Given the description of an element on the screen output the (x, y) to click on. 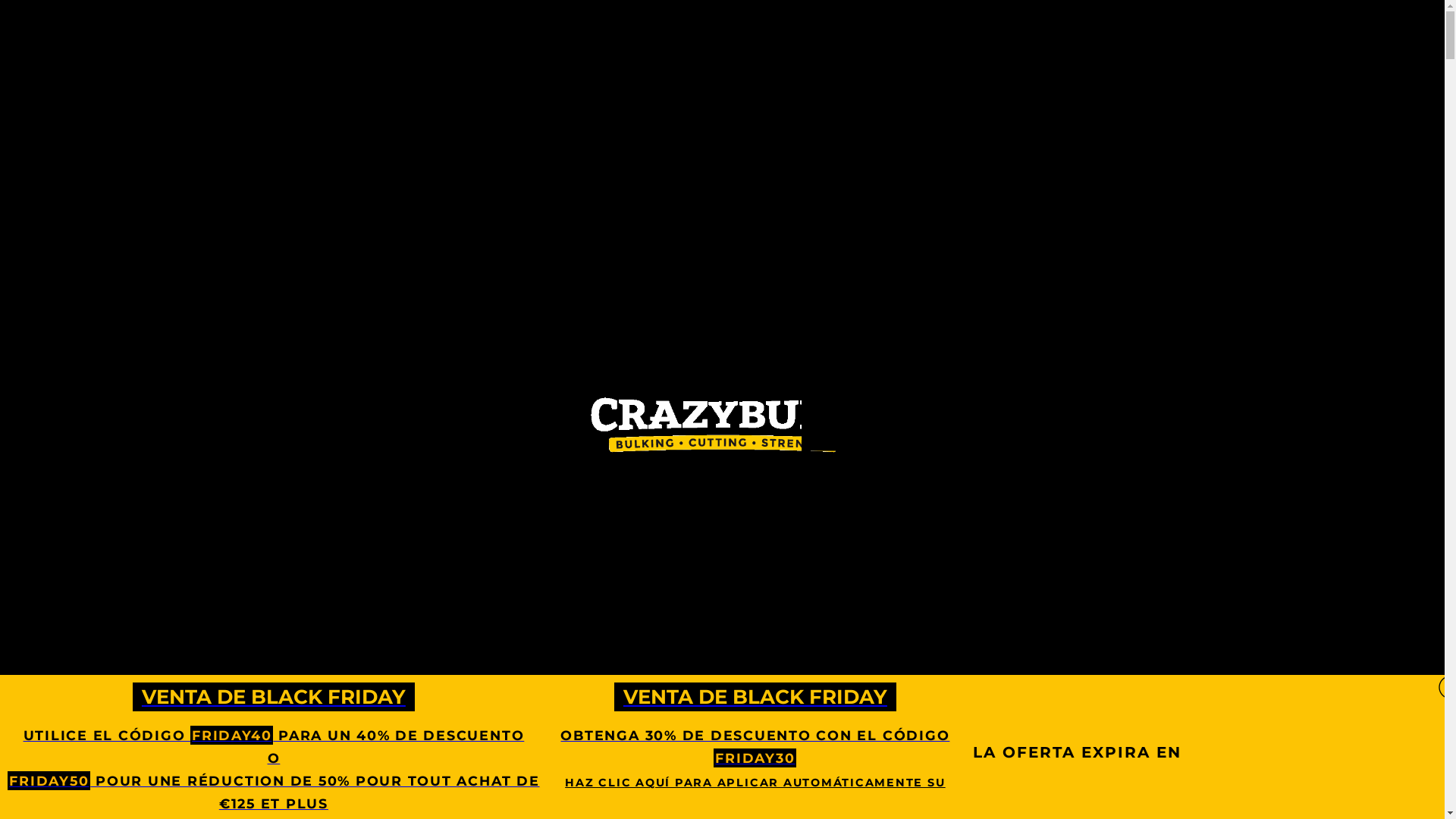
  United States
(USD $) Element type: text (1336, 99)
Chat Element type: hover (1406, 778)
  Canada
(CAD $) Element type: text (1336, 122)
TESTIMONIOS Element type: text (606, 496)
  Denmark
(DKK kr) Element type: text (1336, 327)
  Sweden
(SEK kr) Element type: text (1336, 304)
  Australia
(AUD $) Element type: text (1336, 167)
SARMS Element type: text (825, 496)
TIENDA Element type: text (1022, 496)
PAQUETES Element type: text (517, 496)
SENOS MASCULINOS Element type: text (726, 496)
  Element type: text (1412, 76)
OFERTAS Element type: text (442, 496)
BUSCAR PRODUCTO Element type: text (923, 496)
